Given the description of an element on the screen output the (x, y) to click on. 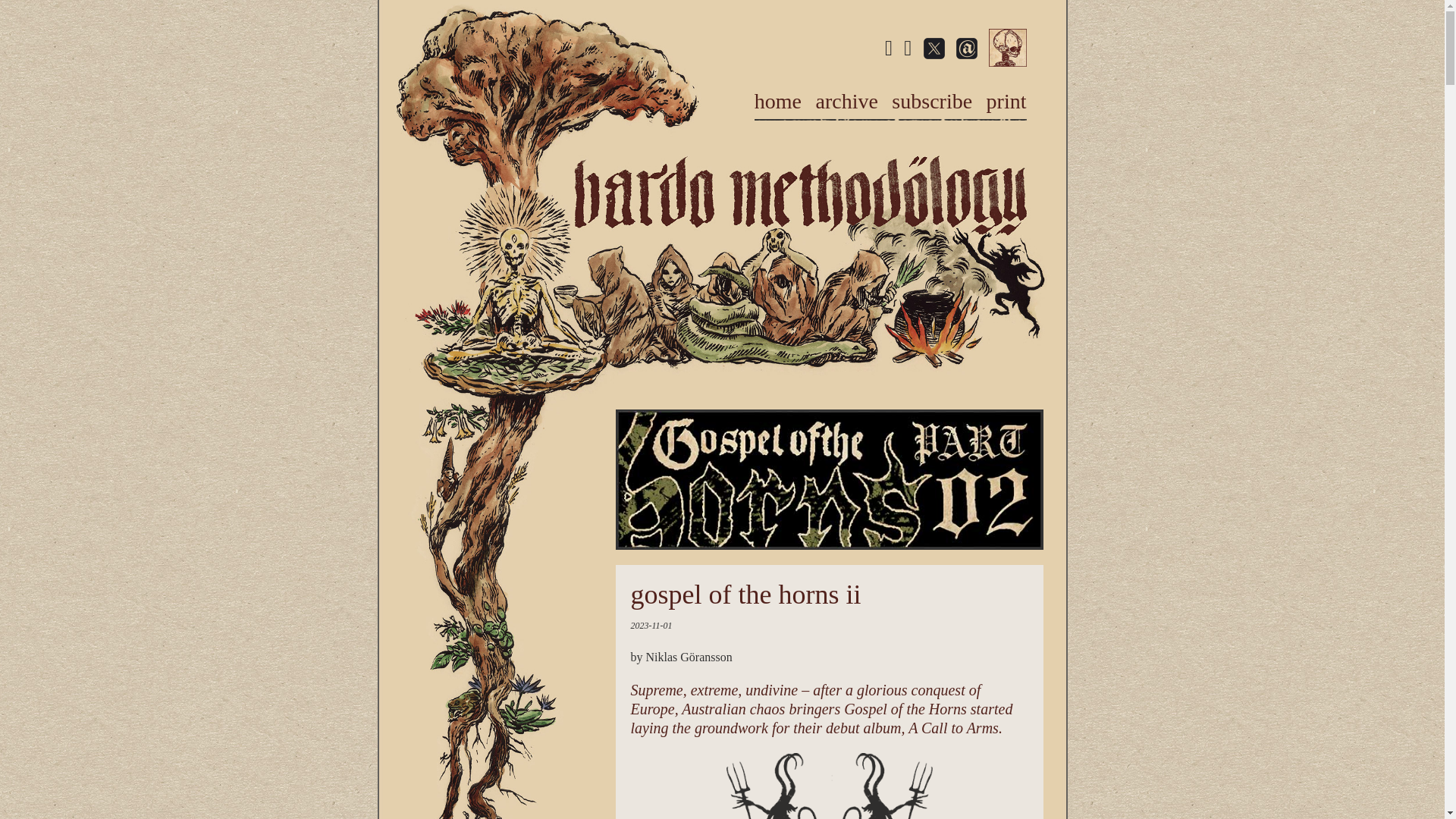
subscribe (931, 101)
home (778, 101)
Account (1007, 47)
About (965, 47)
Artwork by Ryan Marauder (828, 785)
archive (846, 101)
print (1006, 101)
